Given the description of an element on the screen output the (x, y) to click on. 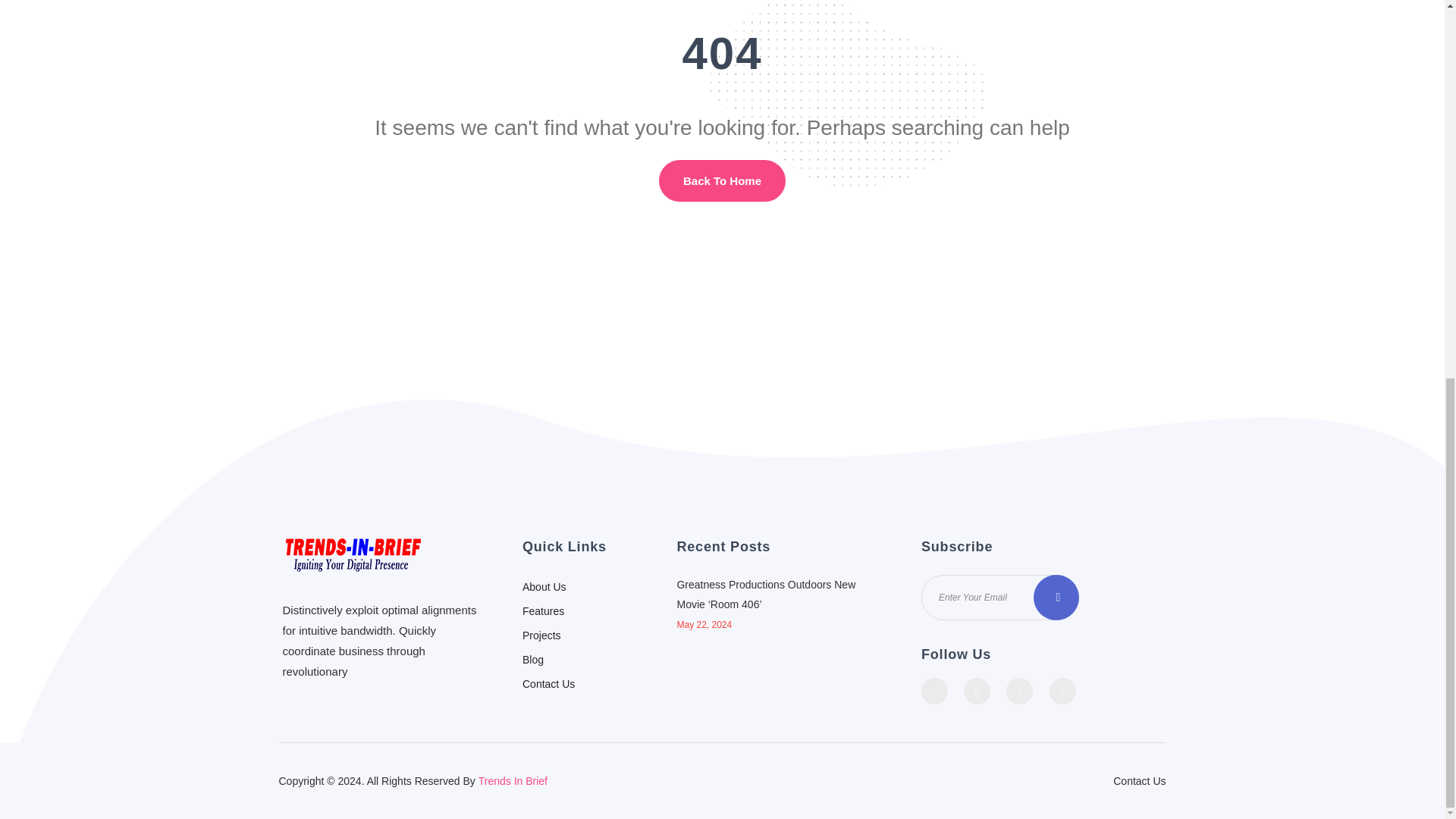
Contact Us (1139, 780)
Back To Home (722, 180)
Projects (541, 635)
Contact Us (548, 684)
About Us (544, 586)
Features (543, 611)
Blog (532, 659)
Trends In Brief (513, 780)
